Given the description of an element on the screen output the (x, y) to click on. 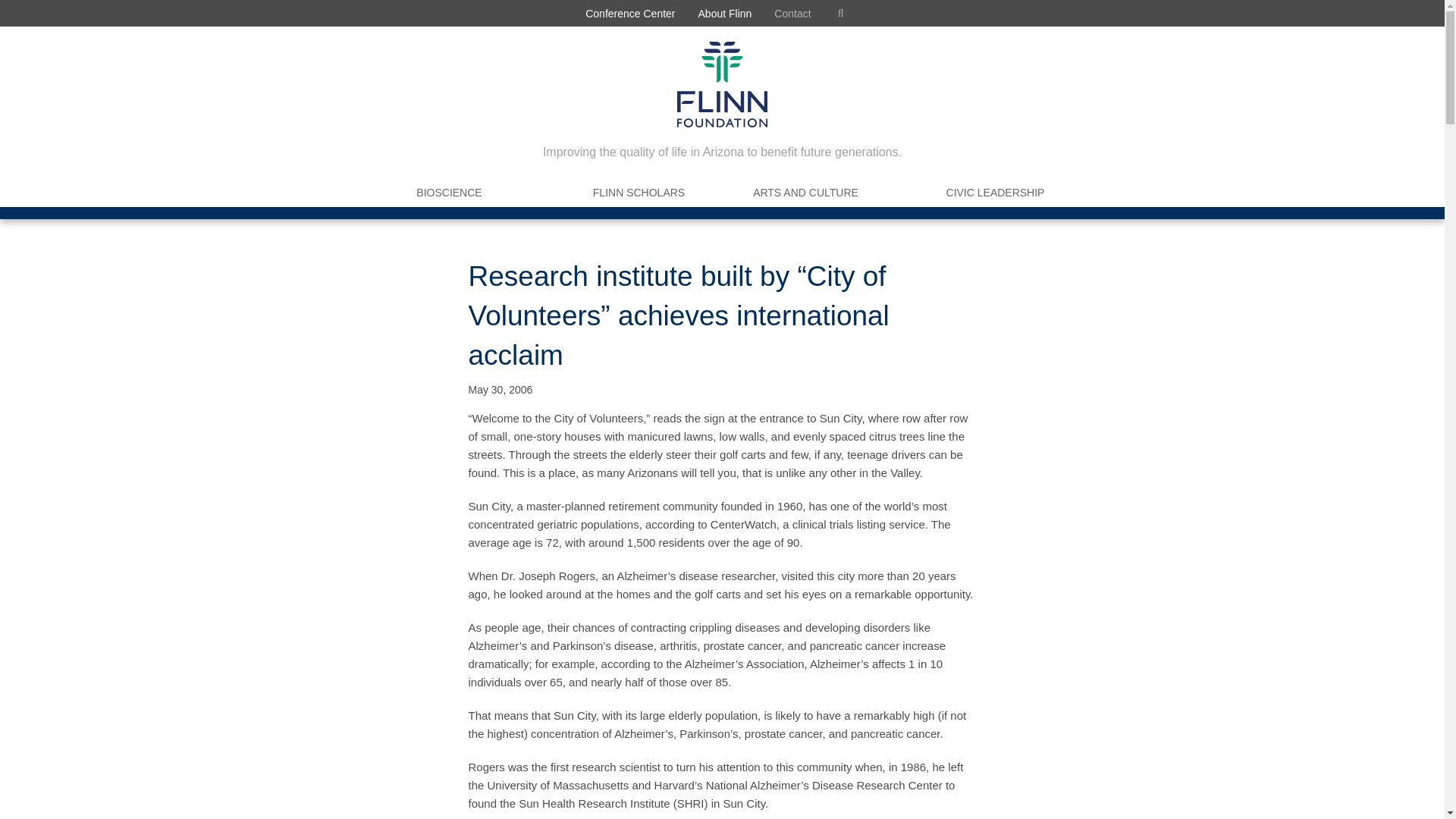
Conference Center (629, 13)
About Flinn (724, 13)
Contact (792, 13)
BIOSCIENCE (448, 192)
